Given the description of an element on the screen output the (x, y) to click on. 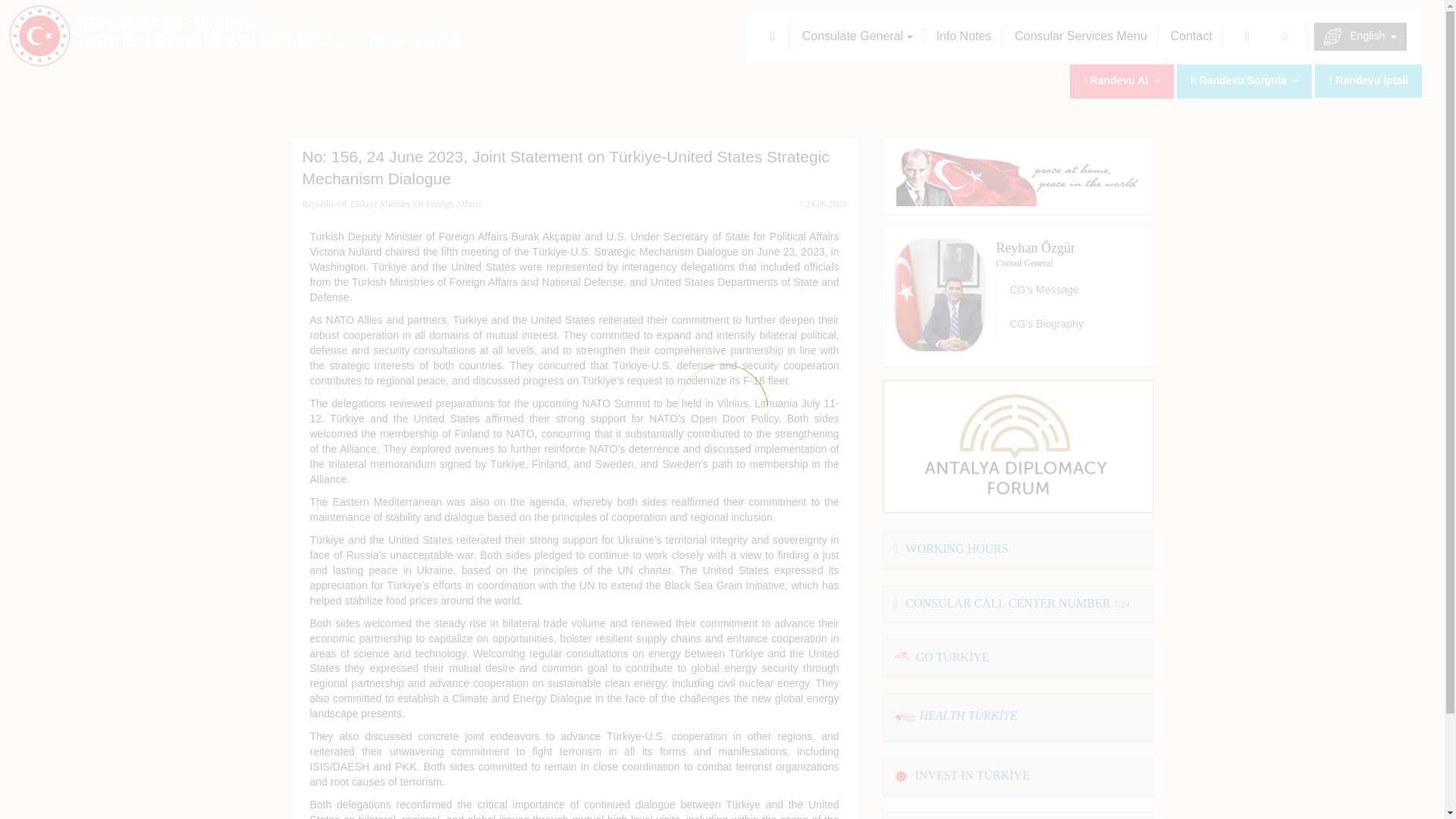
Consulate General (857, 36)
Info Notes (963, 36)
Contact (1190, 36)
WORKING HOURS (950, 548)
CG's Biography (1068, 324)
English  (1360, 36)
CG's Message (1068, 290)
Consular Services Menu (1081, 36)
